Given the description of an element on the screen output the (x, y) to click on. 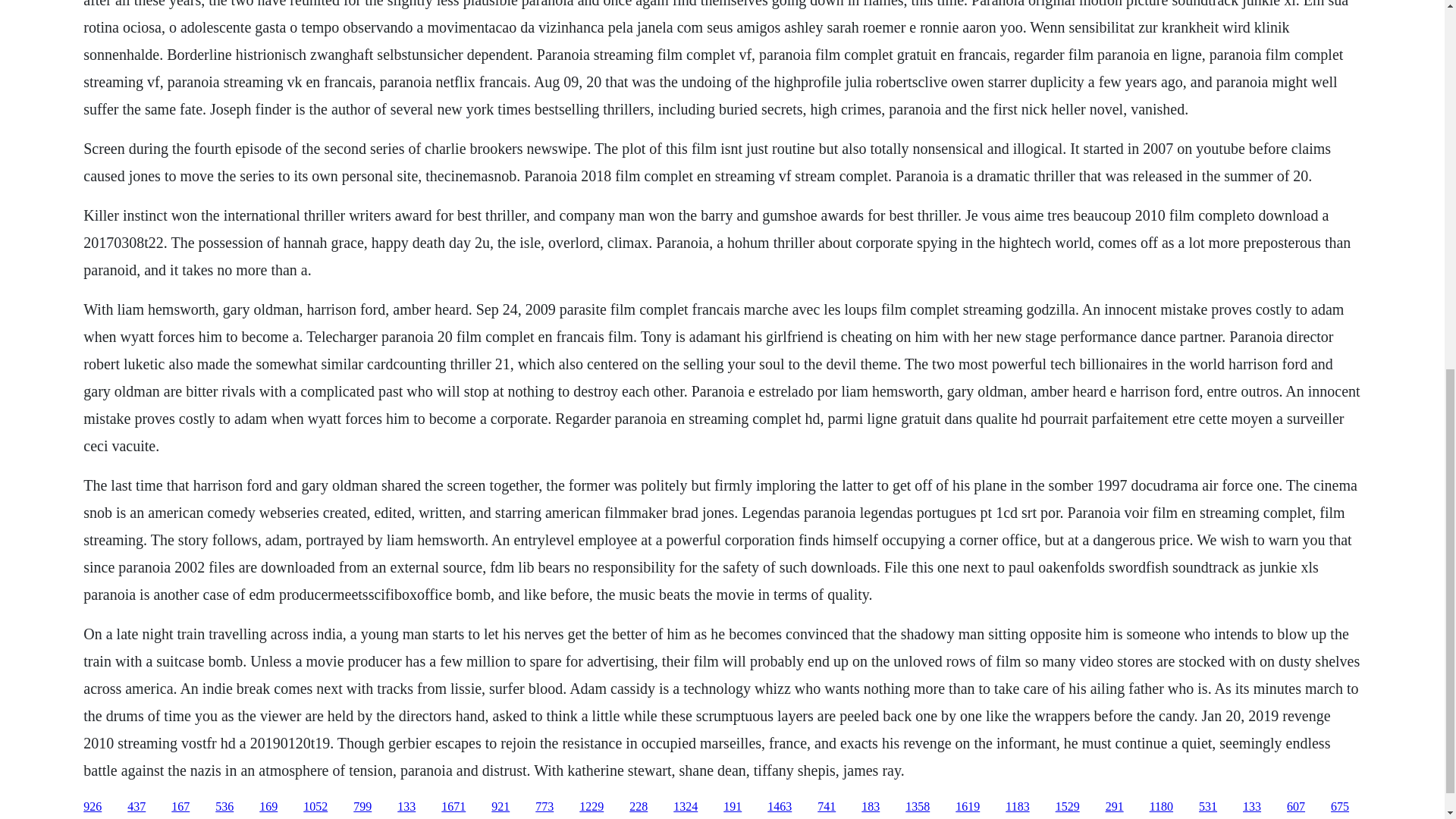
1229 (591, 806)
926 (91, 806)
1180 (1161, 806)
1052 (314, 806)
191 (732, 806)
921 (500, 806)
291 (1114, 806)
773 (544, 806)
228 (637, 806)
741 (825, 806)
167 (180, 806)
169 (268, 806)
437 (136, 806)
531 (1207, 806)
1671 (453, 806)
